Given the description of an element on the screen output the (x, y) to click on. 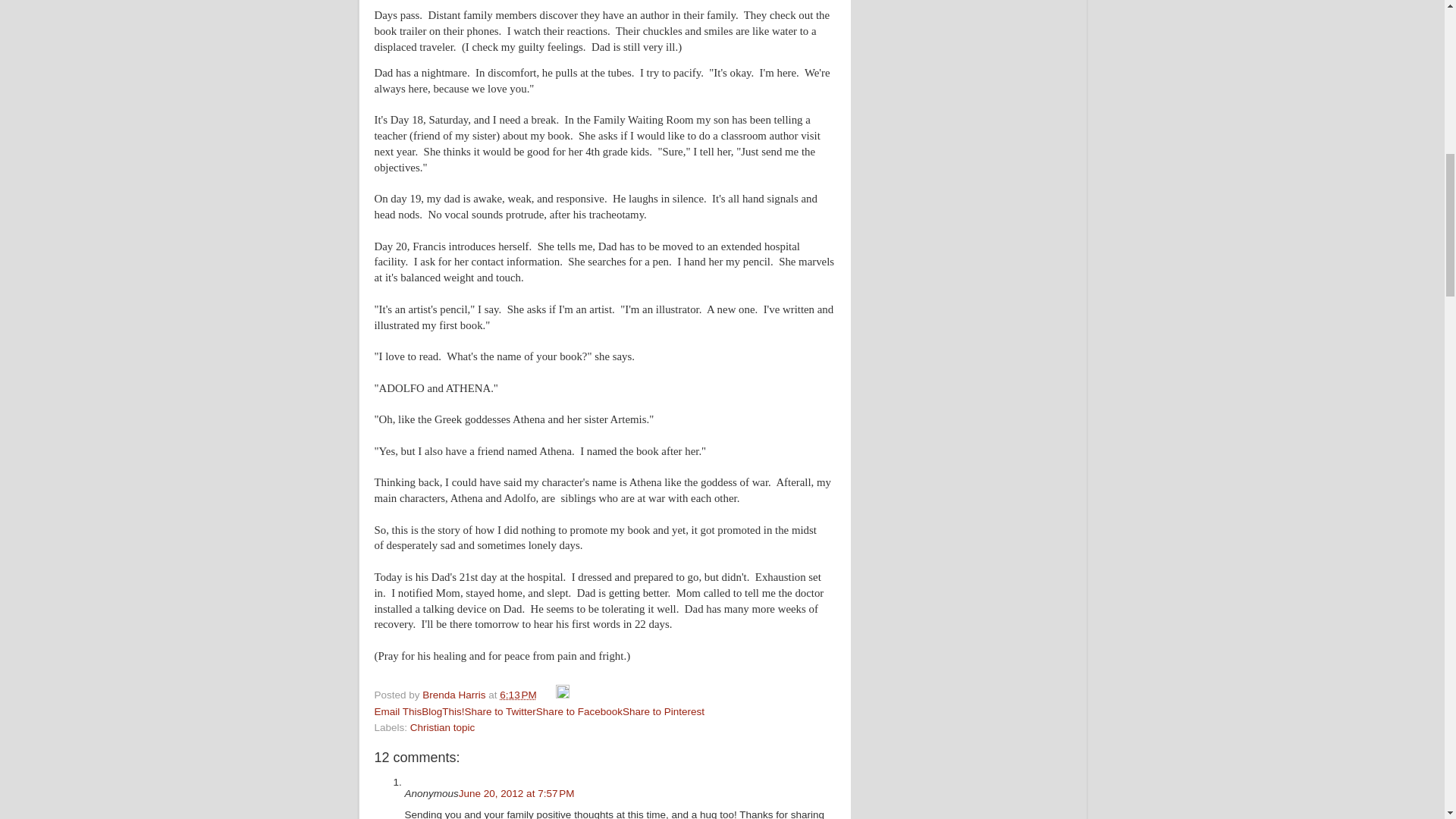
Brenda Harris (454, 695)
Share to Facebook (579, 711)
Christian topic (443, 727)
Share to Pinterest (663, 711)
permanent link (517, 695)
Email Post (548, 695)
author profile (454, 695)
Share to Pinterest (663, 711)
BlogThis! (443, 711)
Share to Twitter (499, 711)
BlogThis! (443, 711)
Edit Post (562, 695)
Email This (398, 711)
